Given the description of an element on the screen output the (x, y) to click on. 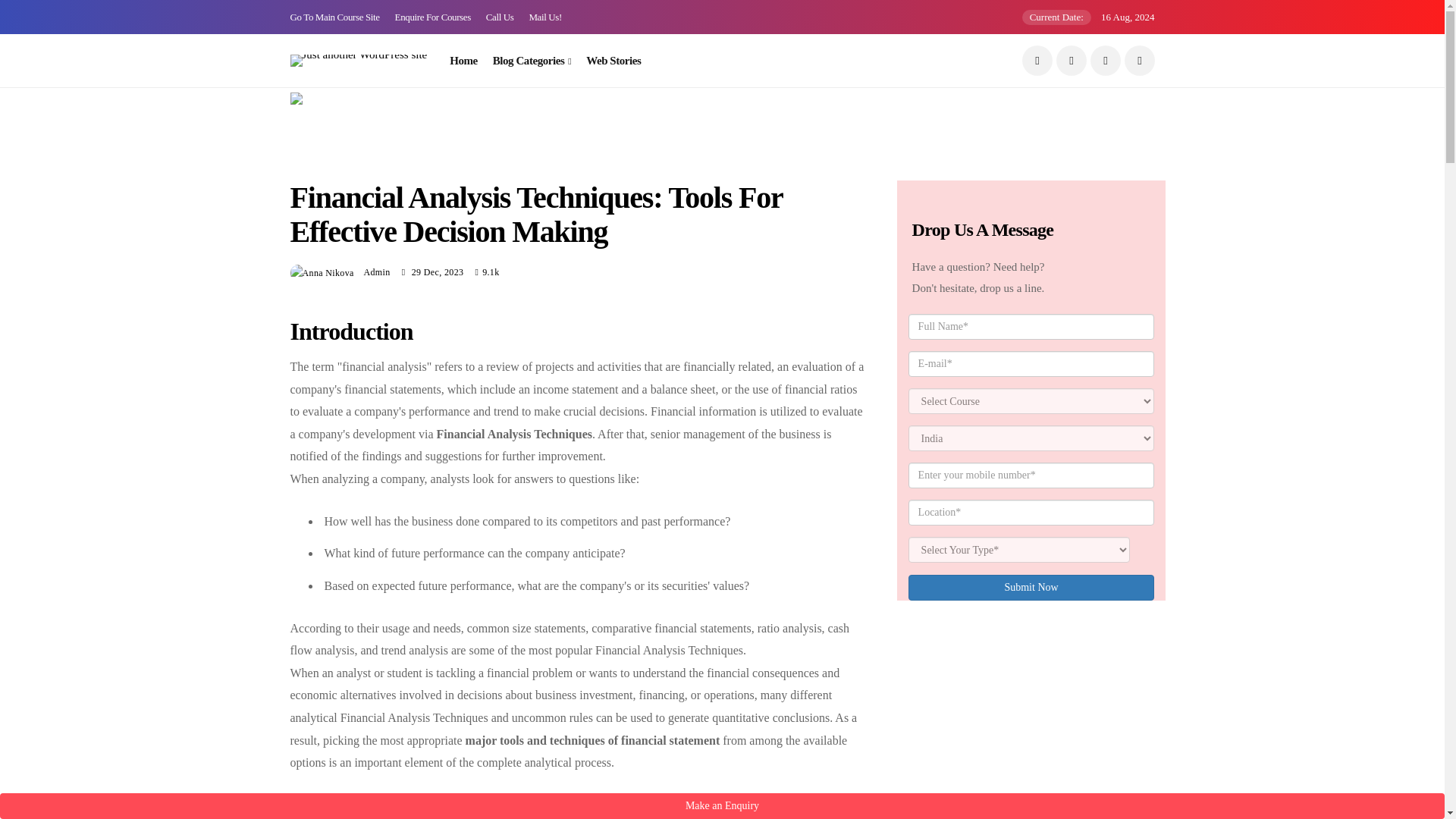
Web Stories (613, 60)
Blog Categories (531, 60)
Go To Main Course Site (333, 17)
Enquire For Courses (432, 17)
Mail Us! (544, 17)
Posts by Anna Nikova (375, 271)
Submit Now (1031, 587)
